Given the description of an element on the screen output the (x, y) to click on. 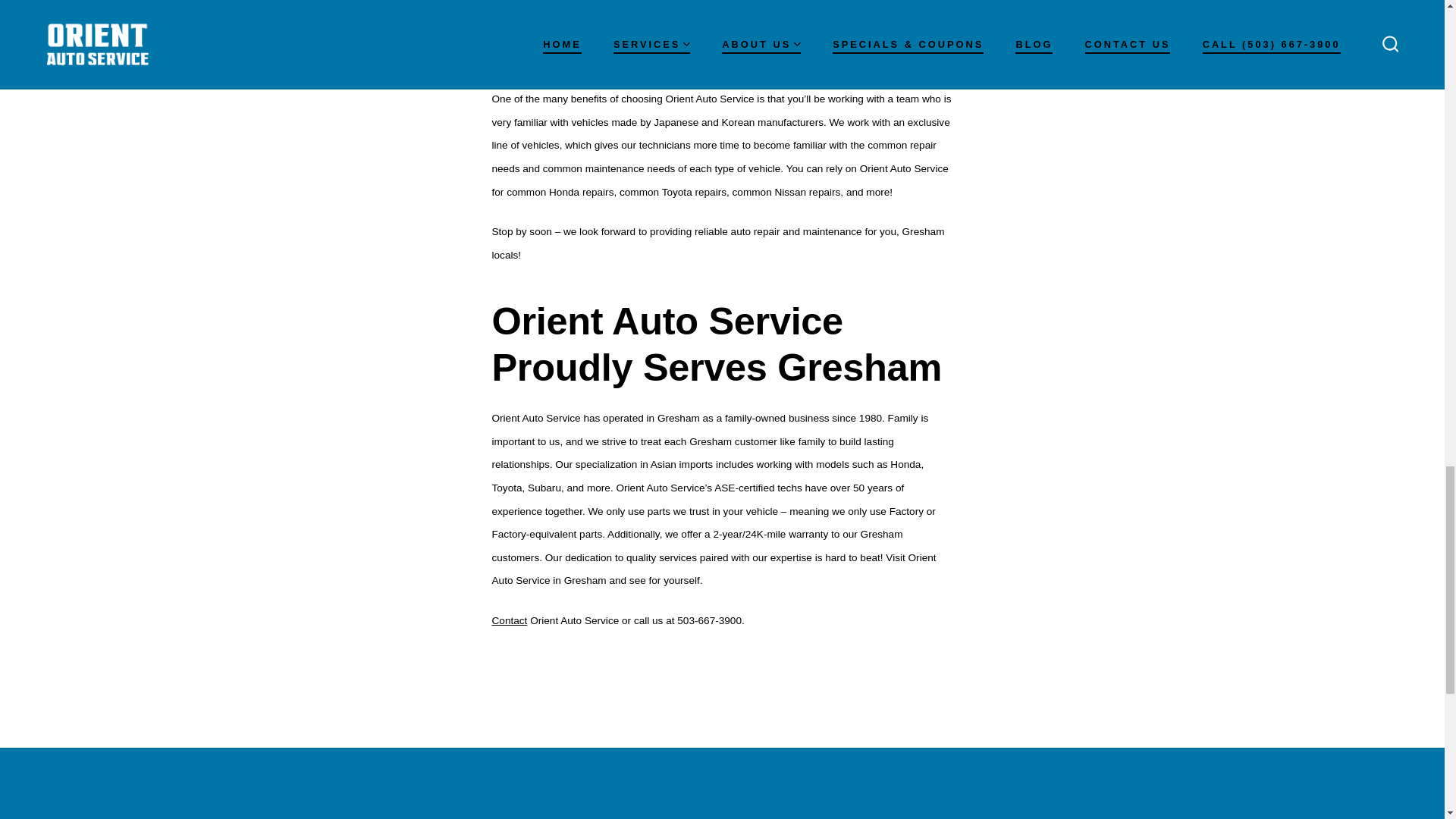
Contact (509, 620)
